Given the description of an element on the screen output the (x, y) to click on. 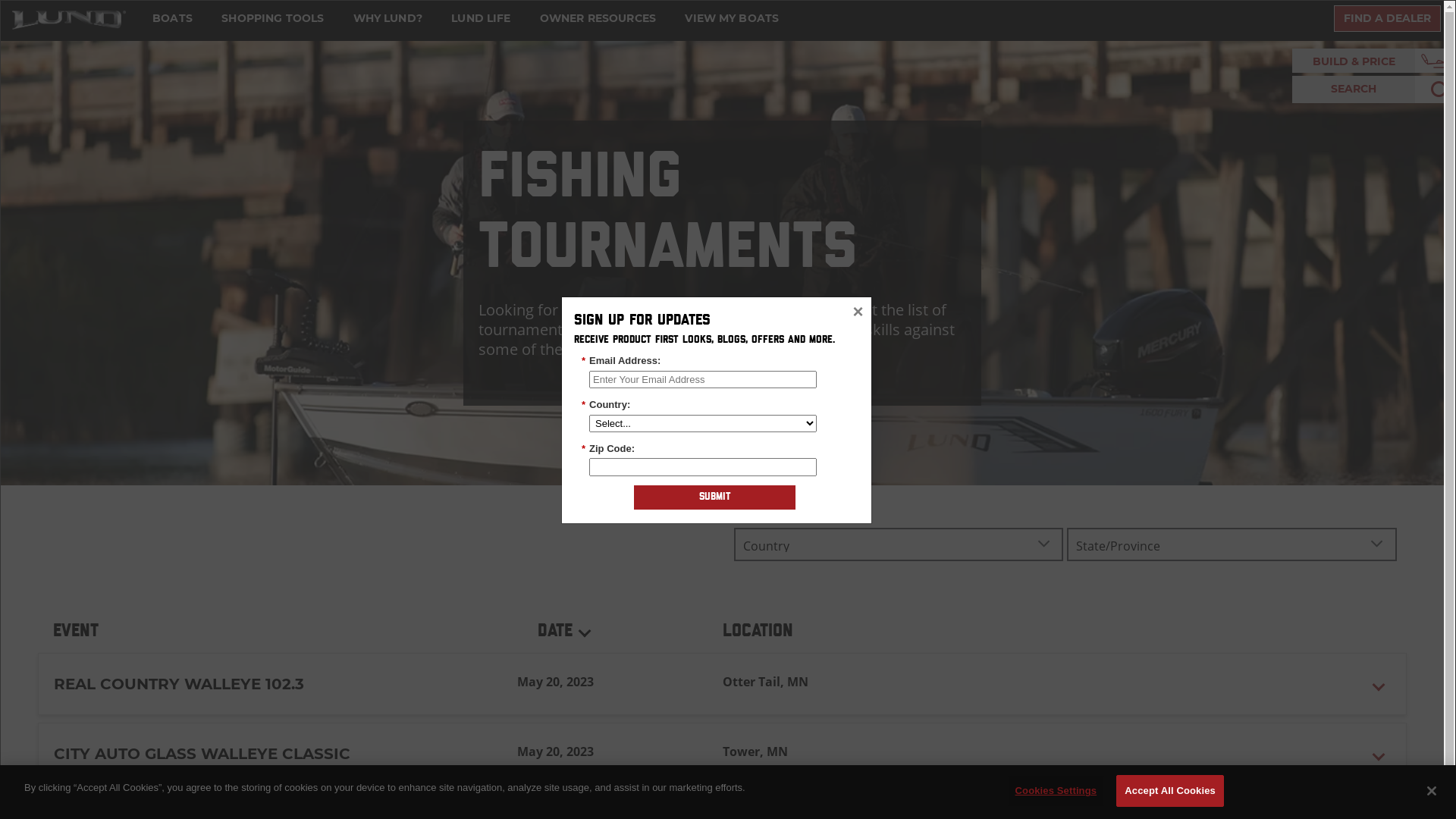
Cookies Settings Element type: text (1055, 790)
BOATS Element type: text (172, 18)
SUBMIT Element type: text (714, 497)
SHOPPING TOOLS Element type: text (272, 18)
SEARCH Element type: text (1353, 88)
LUND LIFE Element type: text (480, 18)
FIND A DEALER Element type: text (1386, 18)
CITY AUTO GLASS WALLEYE CLASSIC
May 20, 2023
Tower, MN Element type: text (721, 753)
REAL COUNTRY WALLEYE 102.3
May 20, 2023
Otter Tail, MN Element type: text (721, 683)
Lund Boats Element type: hover (68, 18)
Skip to main content Element type: text (57, 13)
Accept All Cookies Element type: text (1169, 790)
VIEW MY BOATS Element type: text (731, 18)
OWNER RESOURCES Element type: text (597, 18)
BUILD & PRICE Element type: text (1353, 61)
WHY LUND? Element type: text (387, 18)
